Given the description of an element on the screen output the (x, y) to click on. 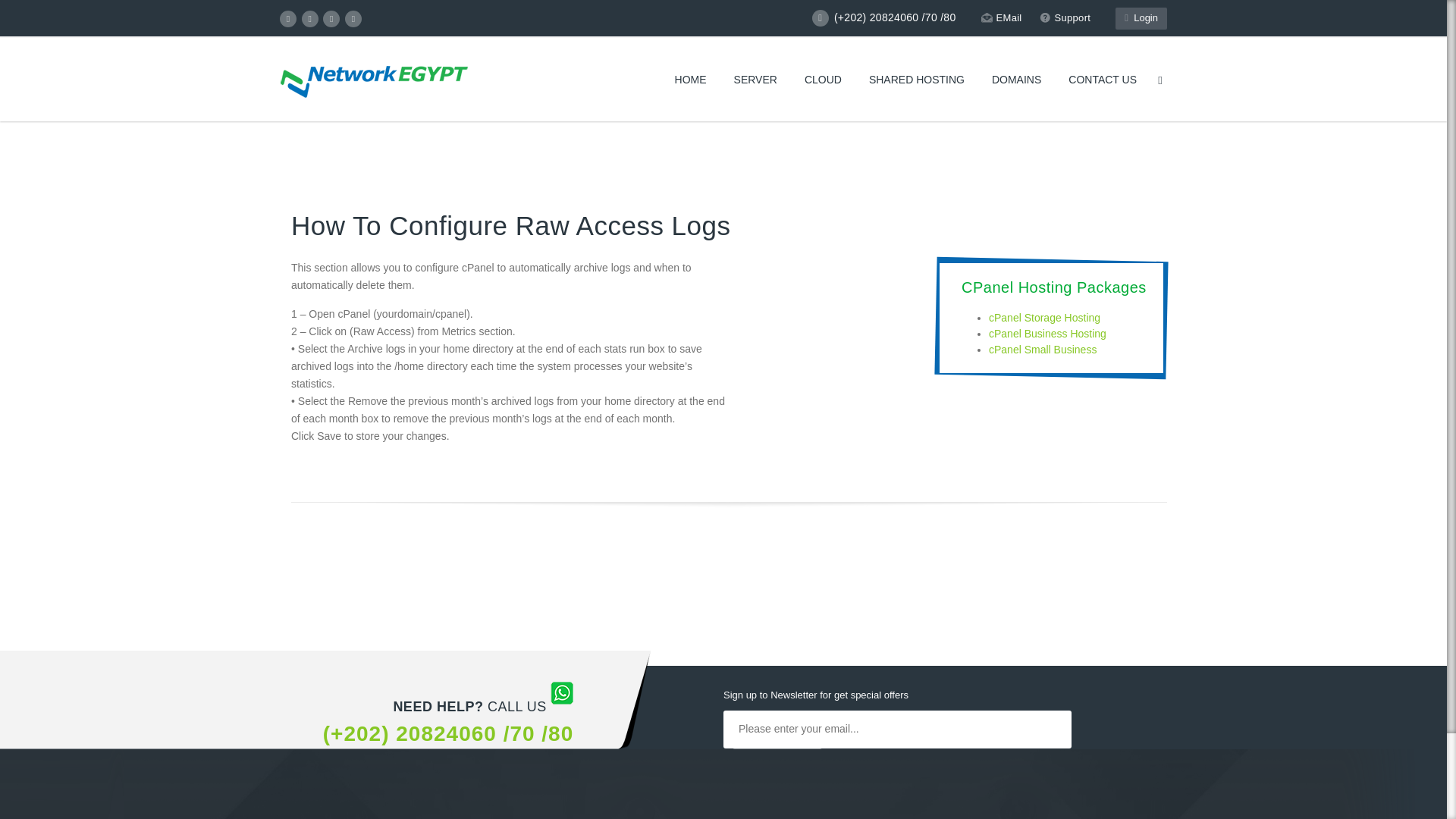
Sign Up (777, 767)
cPanel Small Business (1042, 349)
EMail (1001, 17)
SHARED HOSTING (917, 79)
SERVER (755, 79)
Support (1064, 17)
cPanel Business Hosting (1047, 333)
CONTACT US (1102, 79)
DOMAINS (1016, 79)
  Login (1141, 18)
HOME (690, 79)
Sign Up (777, 767)
CLOUD (823, 79)
cPanel Storage Hosting (1044, 317)
